Given the description of an element on the screen output the (x, y) to click on. 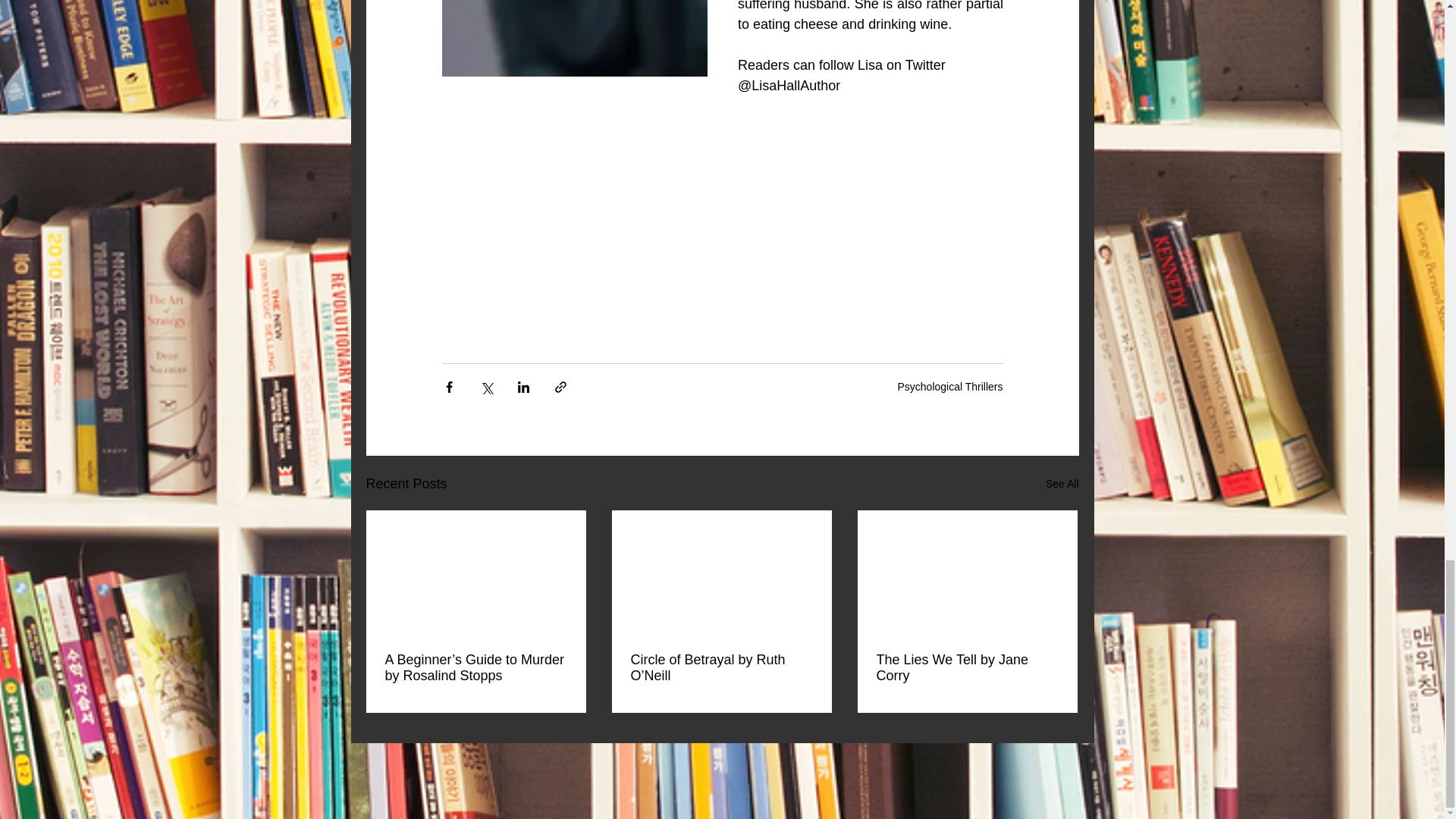
See All (1061, 484)
Psychological Thrillers (949, 386)
The Lies We Tell by Jane Corry (967, 667)
